Given the description of an element on the screen output the (x, y) to click on. 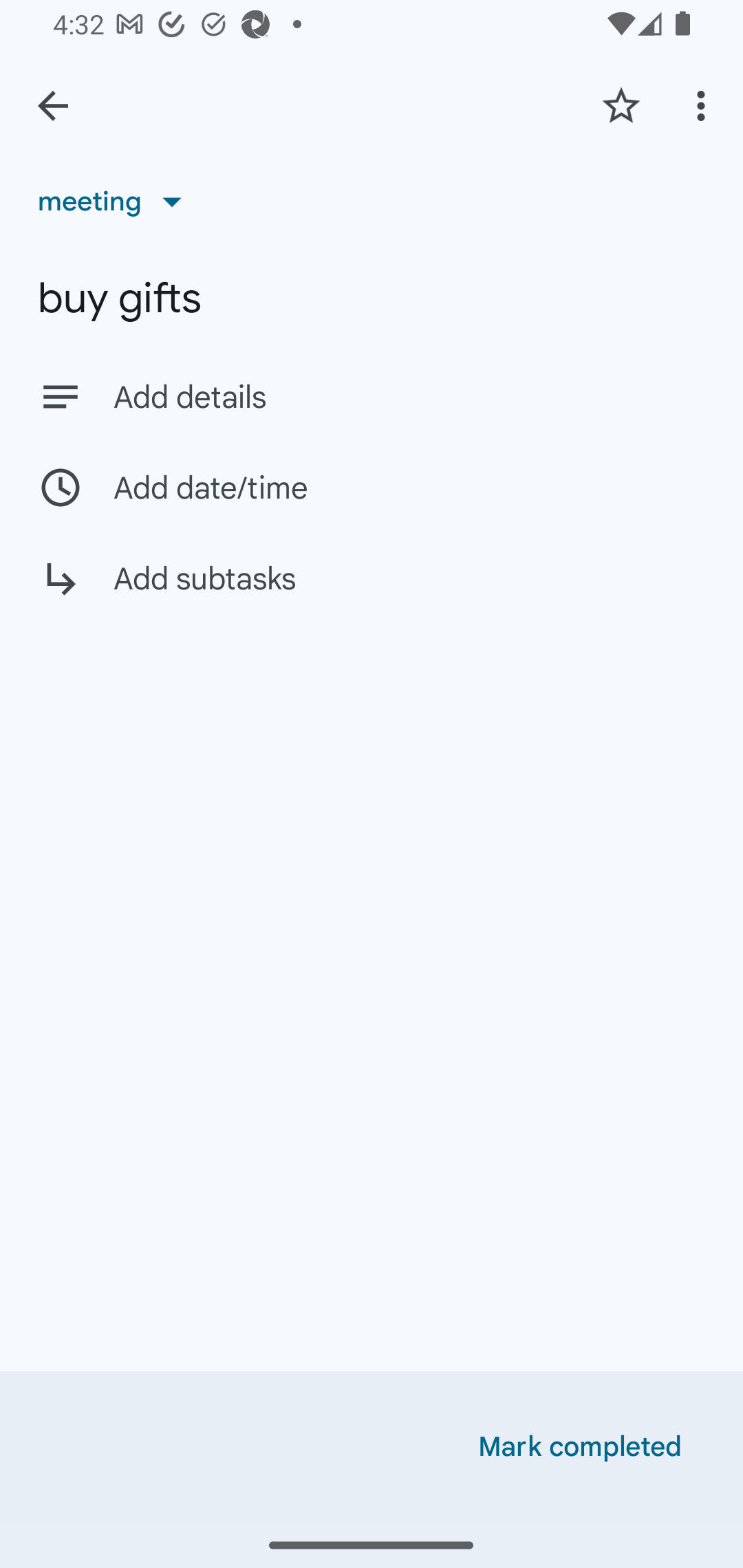
Back (53, 105)
Add star (620, 105)
More options (704, 105)
meeting List, meeting selected, 1 of 16 (115, 201)
buy gifts (371, 298)
Add details (371, 396)
Add details (409, 397)
Add date/time (371, 487)
Add subtasks (371, 593)
Mark completed (580, 1446)
